Given the description of an element on the screen output the (x, y) to click on. 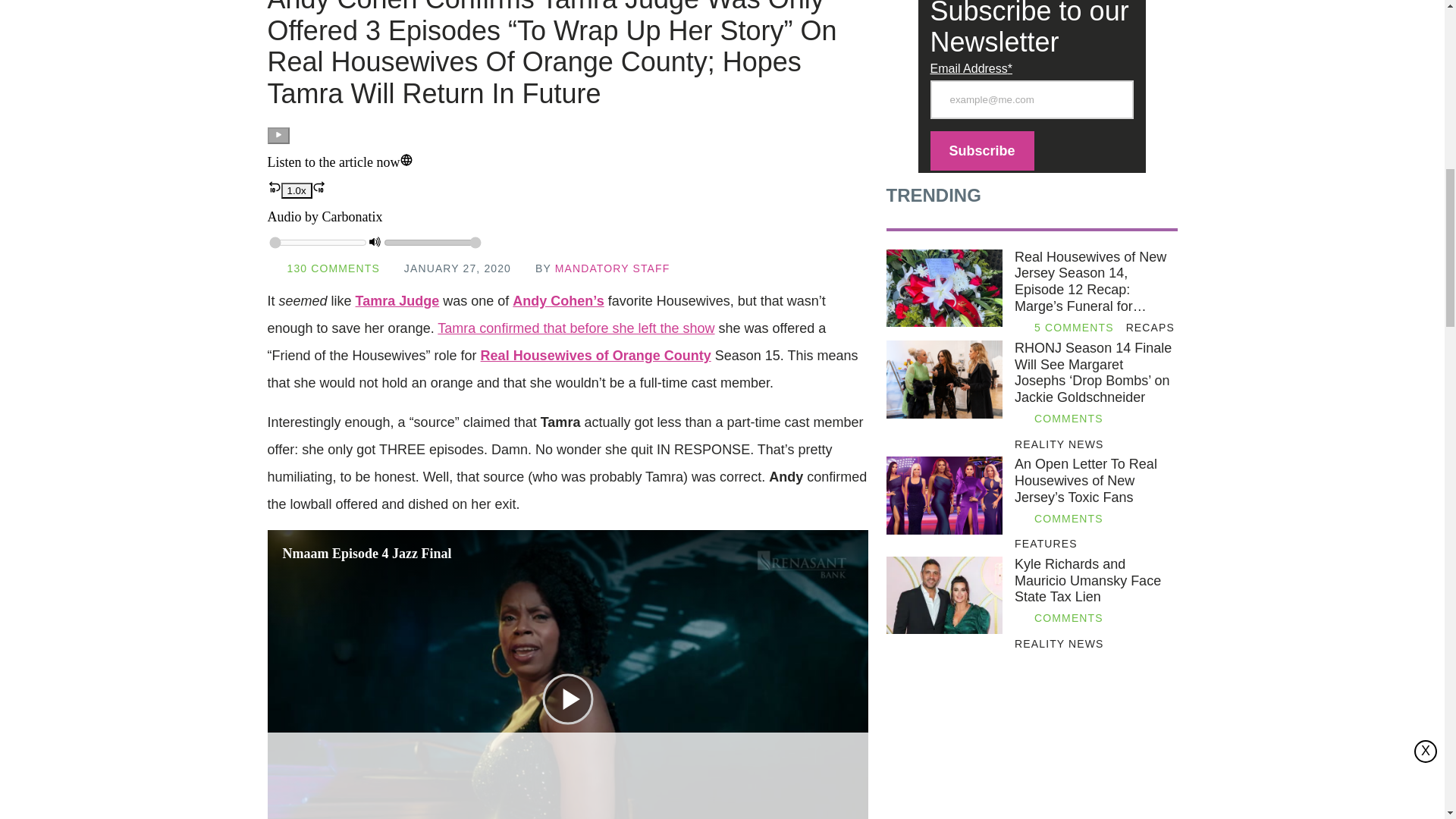
Tamra confirmed that before she left the show (576, 328)
Real Housewives of Orange County (595, 355)
Kyle Richards and Mauricio Umansky Face State Tax Lien (944, 594)
Tamra Judge (397, 300)
Kyle Richards and Mauricio Umansky Face State Tax Lien (1095, 581)
MANDATORY STAFF (611, 268)
130 COMMENTS (332, 268)
3rd party ad content (1030, 746)
